Given the description of an element on the screen output the (x, y) to click on. 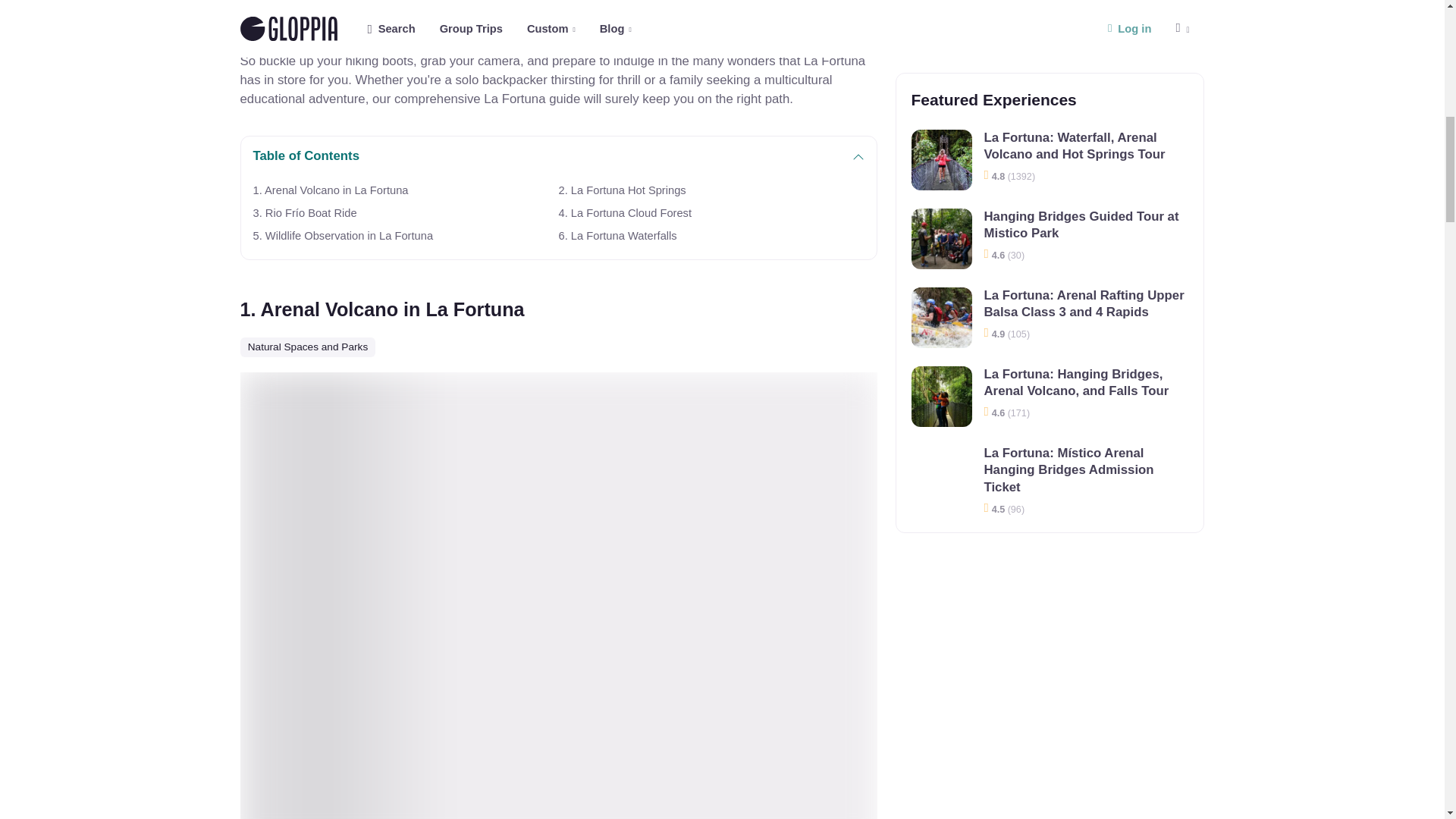
La Fortuna: Arenal Rafting Upper Balsa Class 3 and 4 Rapids (941, 25)
5. Wildlife Observation in La Fortuna (406, 235)
4. La Fortuna Cloud Forest (710, 212)
La Fortuna: Hanging Bridges, Arenal Volcano, and Falls Tour (941, 98)
2. La Fortuna Hot Springs (710, 190)
6. La Fortuna Waterfalls (710, 235)
1. Arenal Volcano in La Fortuna (406, 190)
